Given the description of an element on the screen output the (x, y) to click on. 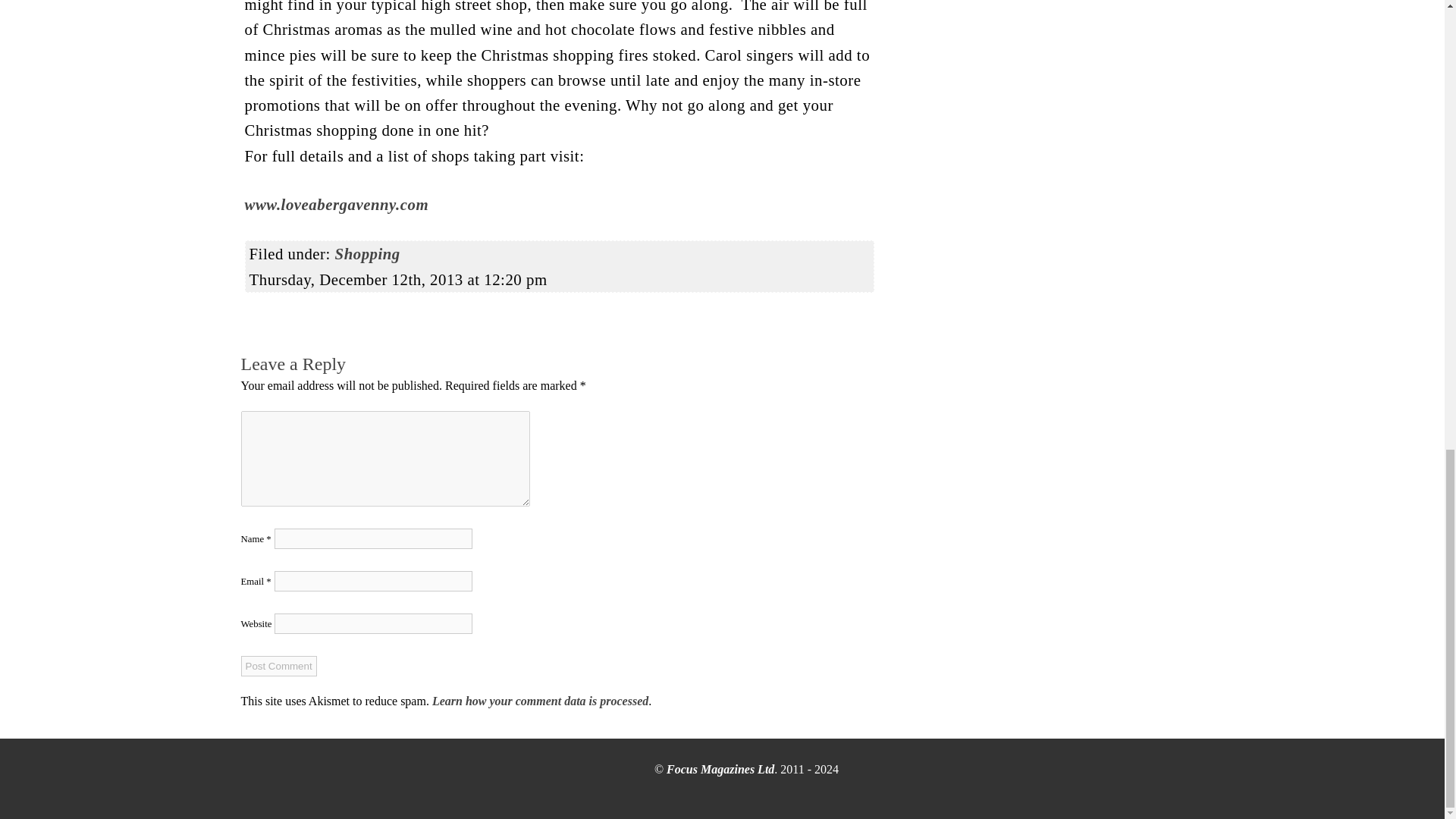
Shopping (367, 253)
Focus Magazines Ltd (720, 768)
www.loveabergavenny.com (336, 203)
Post Comment (279, 666)
Learn how your comment data is processed (539, 700)
Post Comment (279, 666)
